Given the description of an element on the screen output the (x, y) to click on. 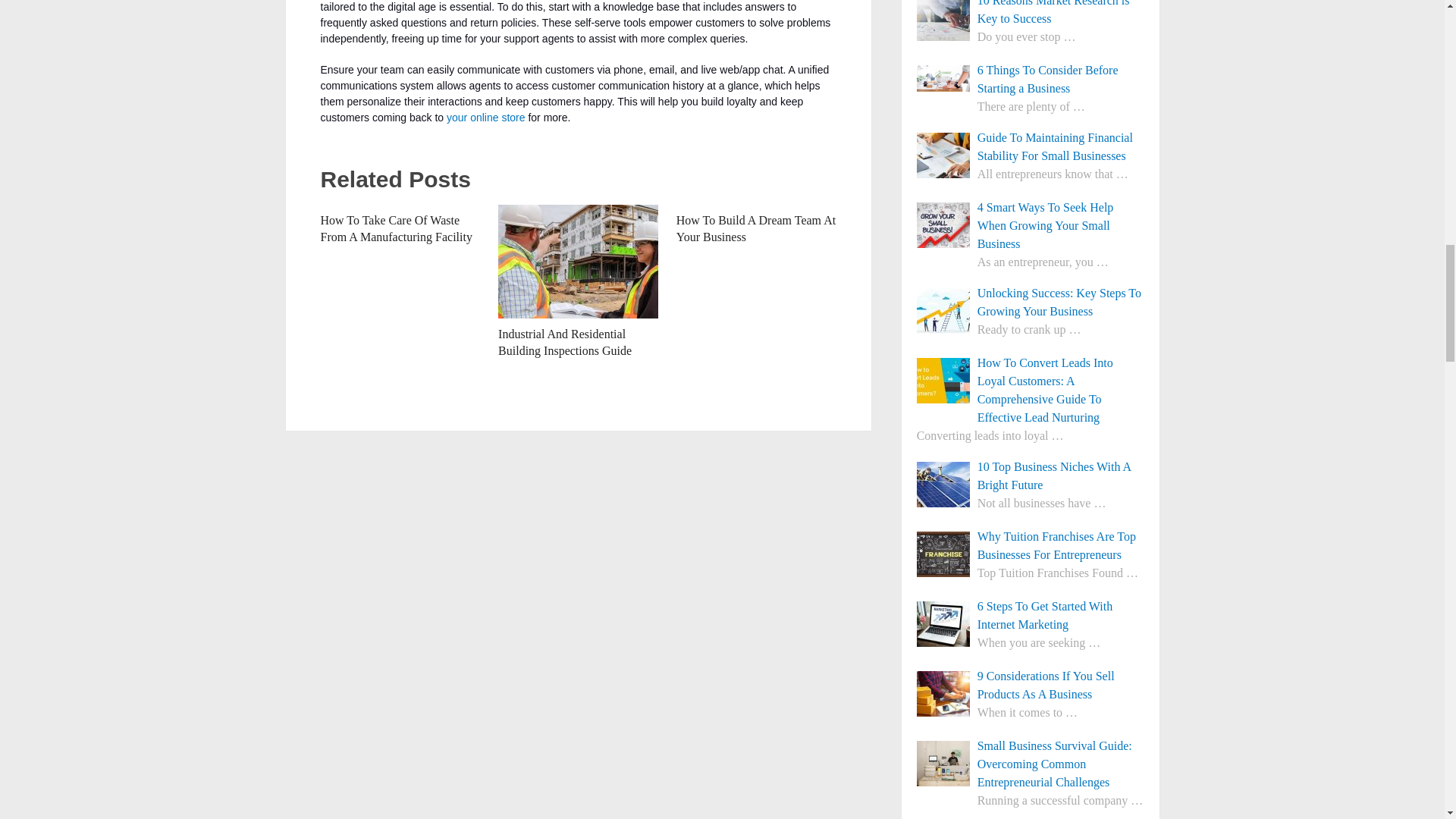
How To Build A Dream Team At Your Business (756, 228)
Industrial And Residential Building Inspections Guide (564, 342)
How To Build A Dream Team At Your Business (756, 228)
How To Take Care Of Waste From A Manufacturing Facility (395, 228)
Industrial And Residential Building Inspections Guide (564, 342)
Industrial And Residential Building Inspections Guide (577, 261)
How To Take Care Of Waste From A Manufacturing Facility (395, 228)
your online store (485, 117)
